Given the description of an element on the screen output the (x, y) to click on. 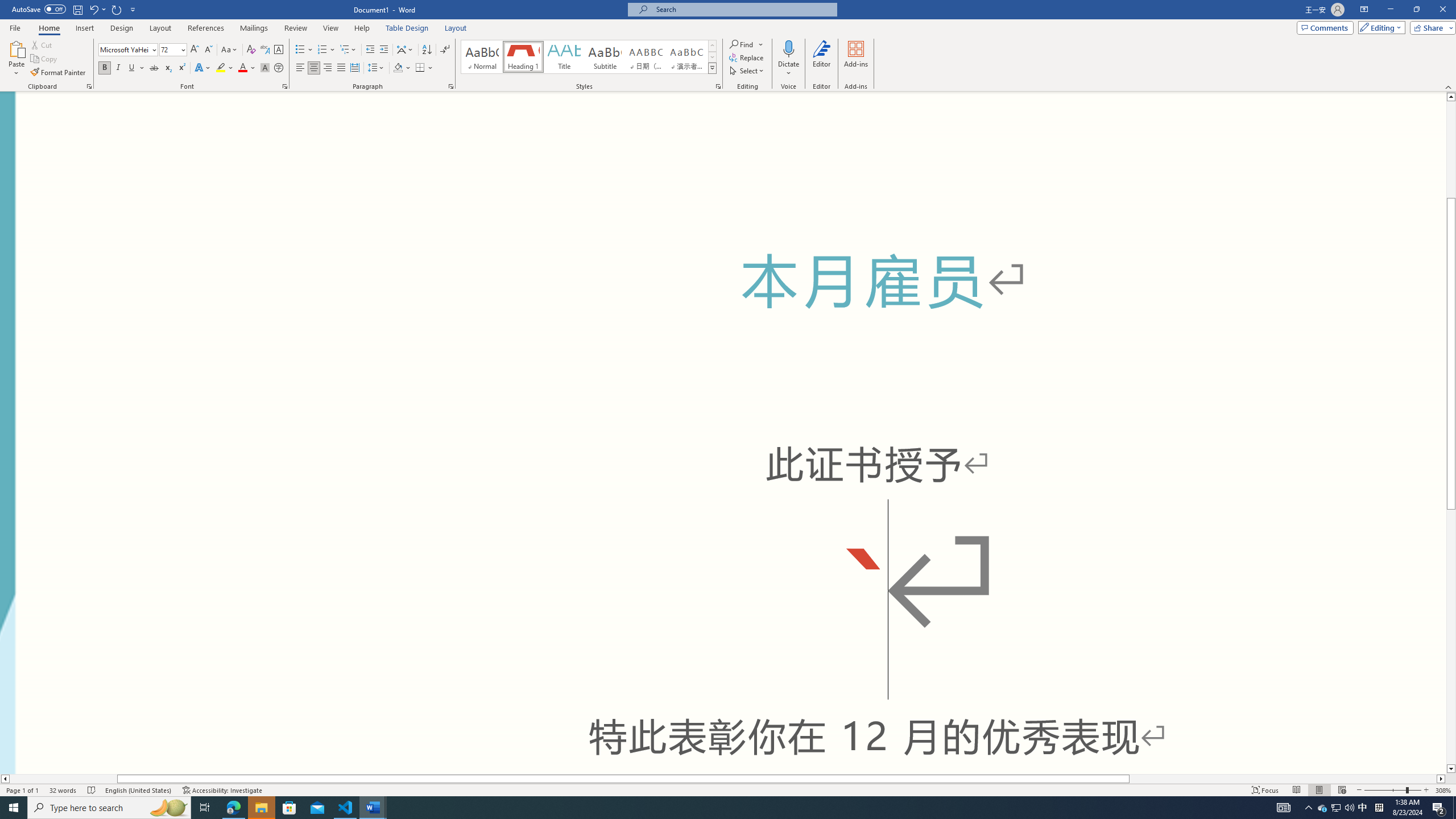
Increase Indent (383, 49)
Heading 1 (522, 56)
Office Clipboard... (88, 85)
Page Number Page 1 of 1 (22, 790)
Restore Down (1416, 9)
Home (48, 28)
Row up (711, 45)
Sort... (426, 49)
Bullets (304, 49)
Zoom Out (1385, 790)
Line down (1450, 768)
Page 1 content (722, 432)
Ribbon Display Options (1364, 9)
Class: NetUIScrollBar (722, 778)
Cut (42, 44)
